Given the description of an element on the screen output the (x, y) to click on. 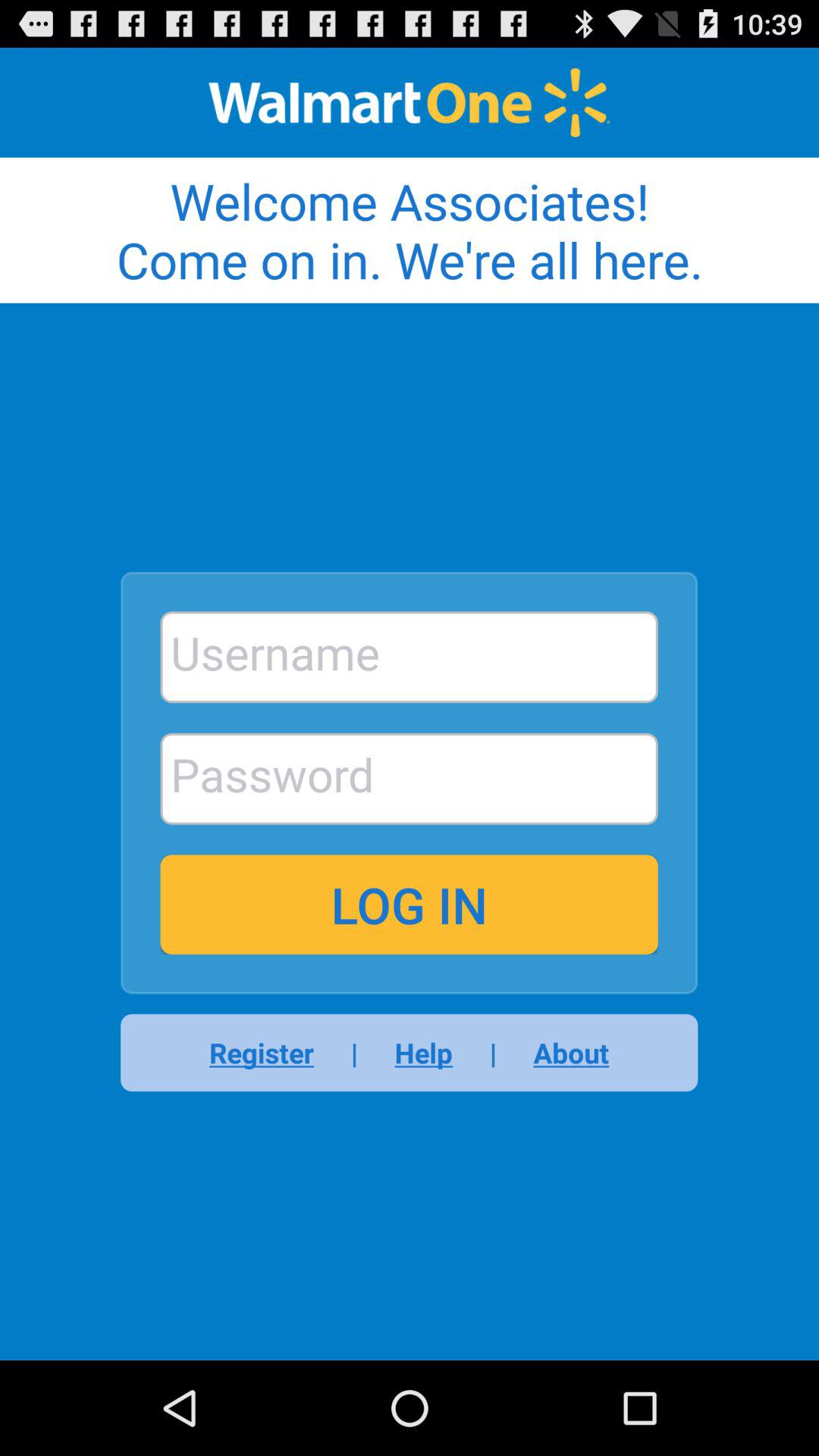
turn on the  help  item (423, 1052)
